Given the description of an element on the screen output the (x, y) to click on. 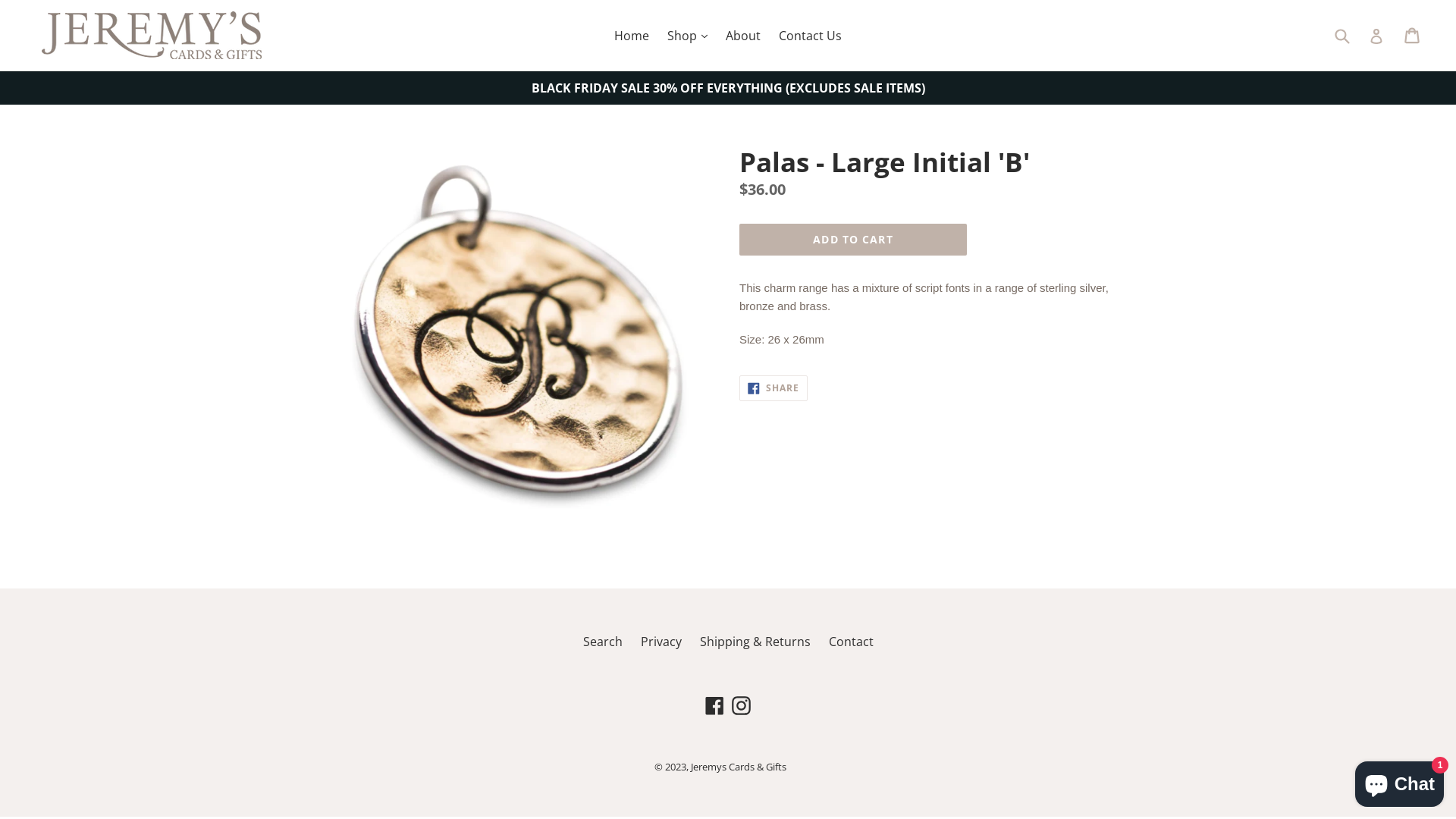
Jeremys Cards & Gifts Element type: text (738, 766)
Home Element type: text (631, 35)
Cart
Cart Element type: text (1412, 35)
Submit Element type: text (1341, 34)
Shopify online store chat Element type: hover (1399, 780)
SHARE
SHARE ON FACEBOOK Element type: text (773, 388)
Facebook Element type: text (714, 704)
Contact Us Element type: text (810, 35)
Contact Element type: text (850, 641)
About Element type: text (743, 35)
Search Element type: text (601, 641)
Log in Element type: text (1375, 34)
Shipping & Returns Element type: text (754, 641)
ADD TO CART Element type: text (852, 239)
Instagram Element type: text (741, 704)
Privacy Element type: text (660, 641)
